Given the description of an element on the screen output the (x, y) to click on. 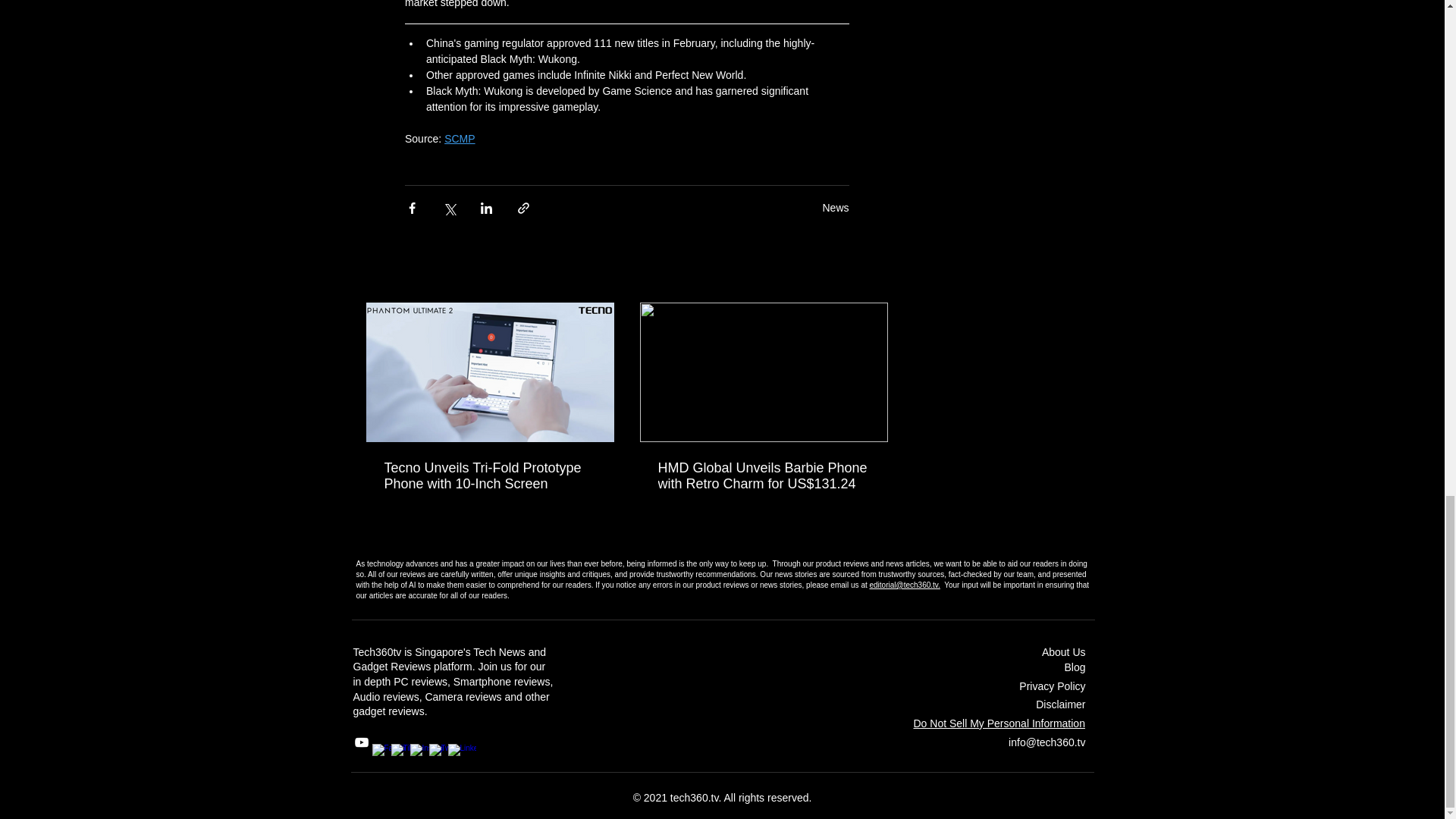
About Us (1064, 652)
SCMP (459, 138)
Blog (1074, 666)
Tecno Unveils Tri-Fold Prototype Phone with 10-Inch Screen (489, 476)
Privacy Policy (1051, 686)
News (835, 207)
